Given the description of an element on the screen output the (x, y) to click on. 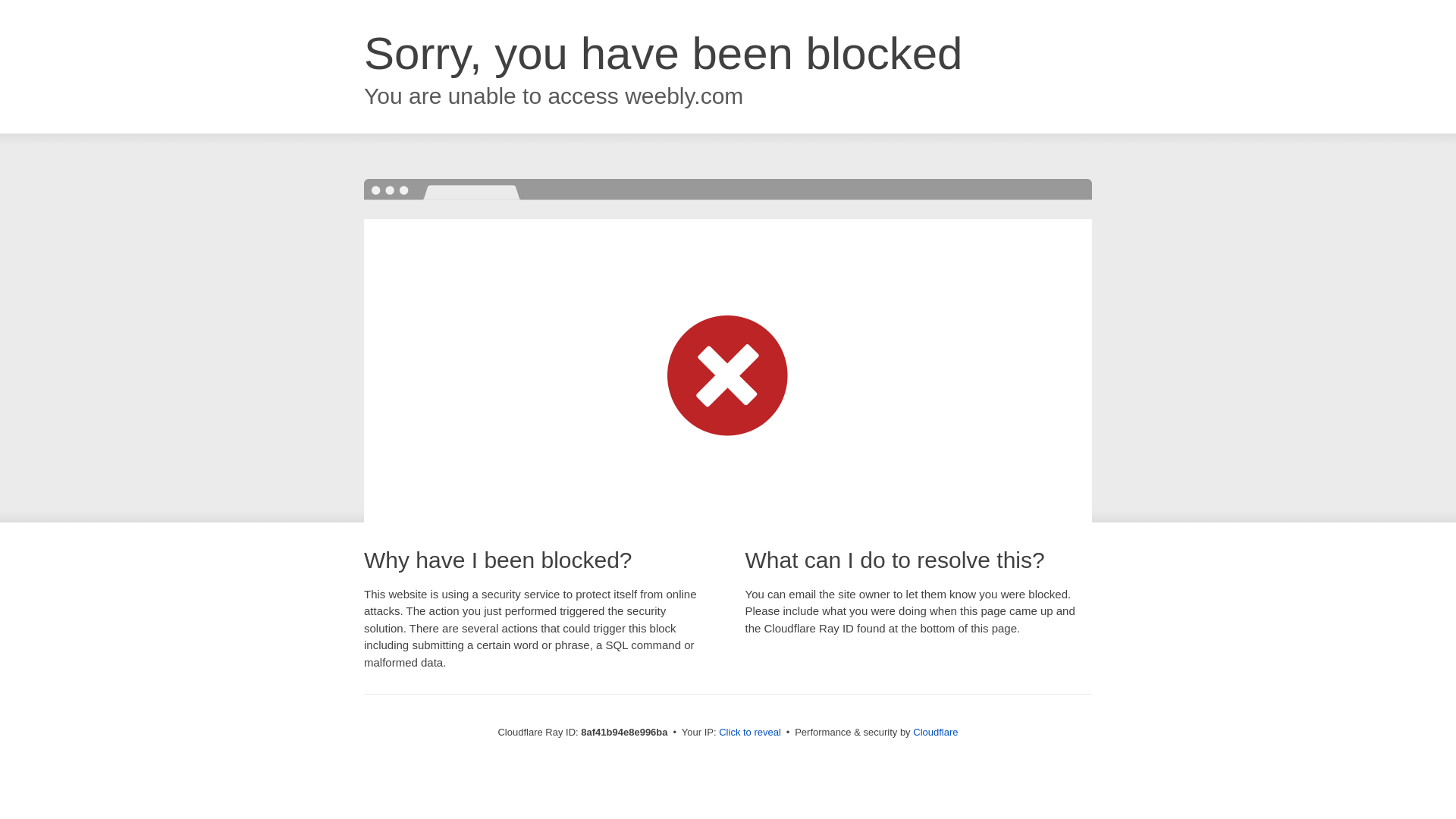
Click to reveal (749, 732)
Cloudflare (935, 731)
